Given the description of an element on the screen output the (x, y) to click on. 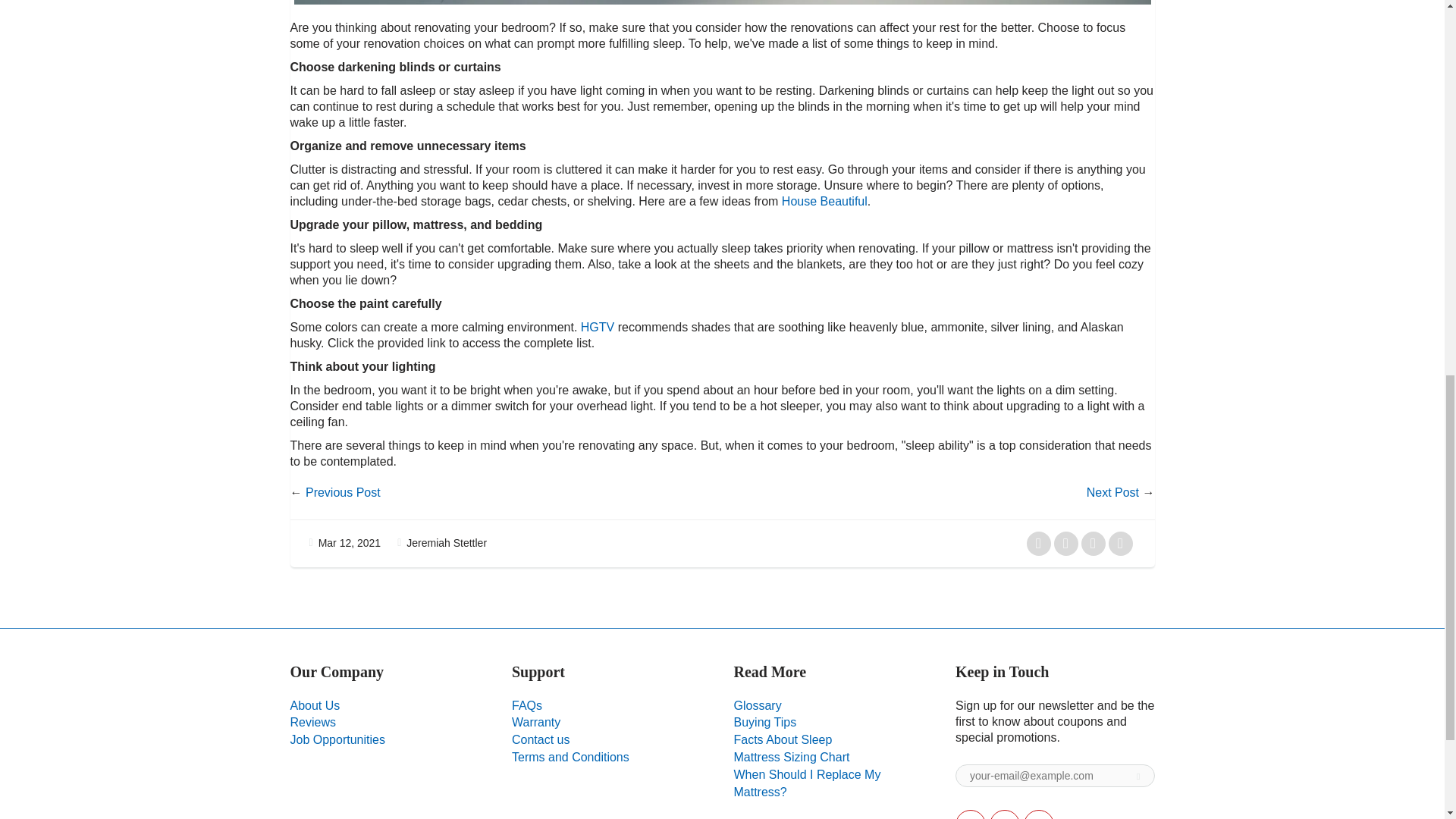
Twitter (970, 814)
Instagram (1038, 814)
Facebook (1005, 814)
